Given the description of an element on the screen output the (x, y) to click on. 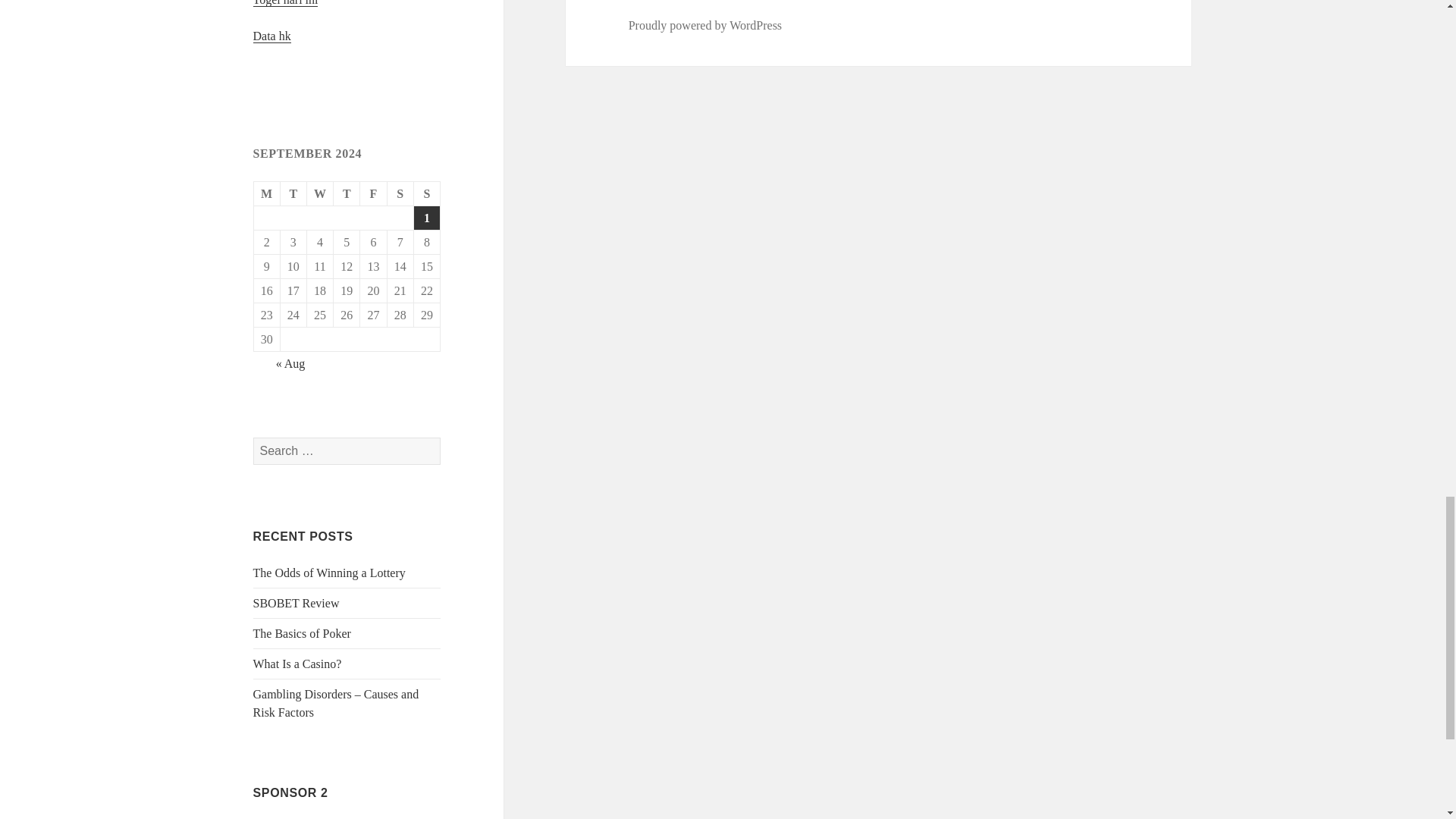
Wednesday (320, 193)
Tuesday (294, 193)
Monday (267, 193)
Sunday (427, 193)
Thursday (346, 193)
Friday (373, 193)
Saturday (400, 193)
